Given the description of an element on the screen output the (x, y) to click on. 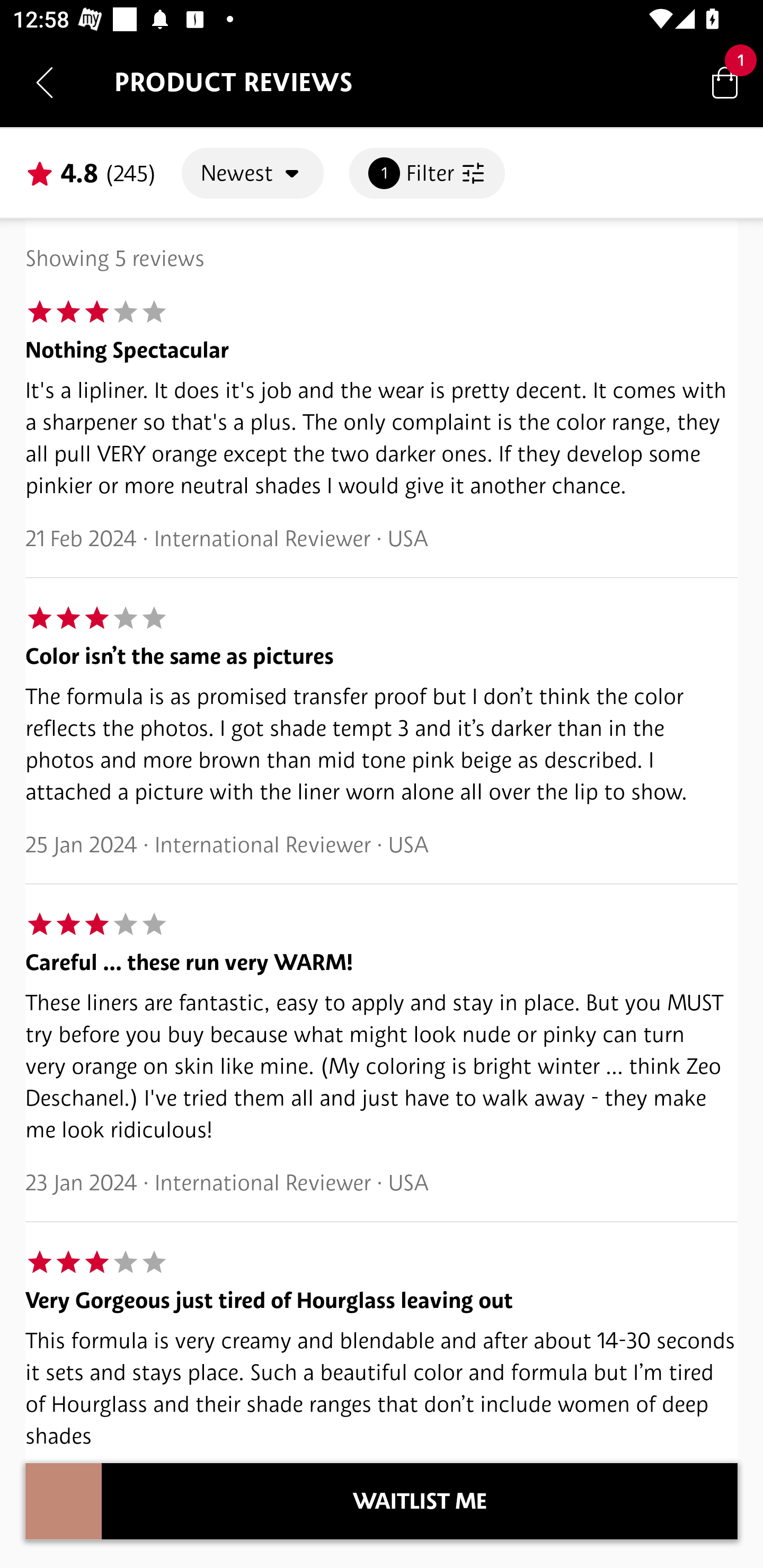
Navigate up (44, 82)
Bag (724, 81)
Newest (252, 173)
1 Filter (427, 173)
WAITLIST ME (419, 1500)
